Given the description of an element on the screen output the (x, y) to click on. 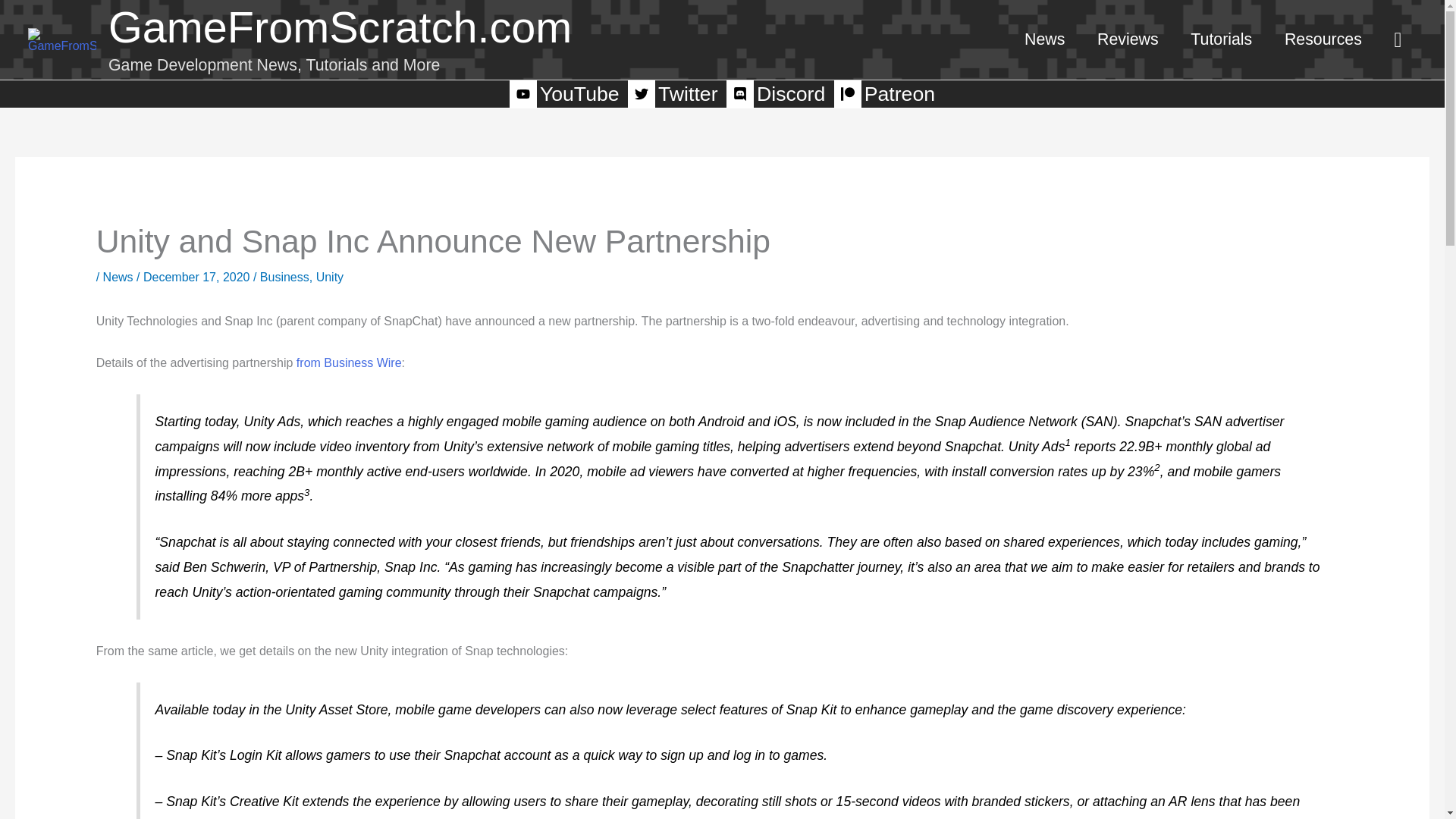
Tutorials (1221, 39)
News (118, 277)
Business (284, 277)
Reviews (1127, 39)
from Business Wire (349, 362)
Unity (329, 277)
News (1045, 39)
YouTube (566, 93)
Resources (1323, 39)
Twitter (673, 93)
